Given the description of an element on the screen output the (x, y) to click on. 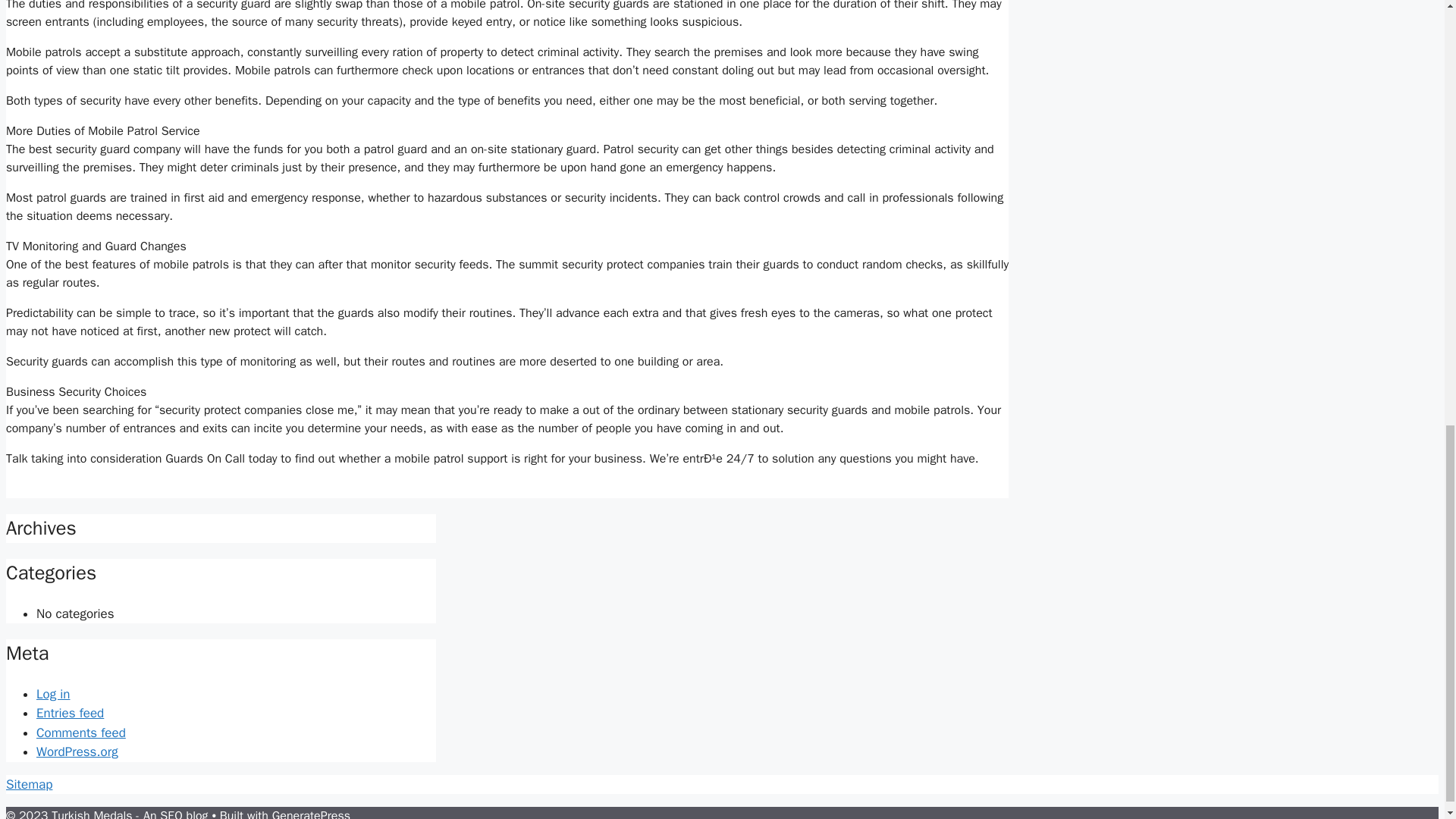
Log in (52, 693)
Comments feed (80, 732)
Sitemap (28, 784)
Entries feed (69, 713)
WordPress.org (76, 751)
